Given the description of an element on the screen output the (x, y) to click on. 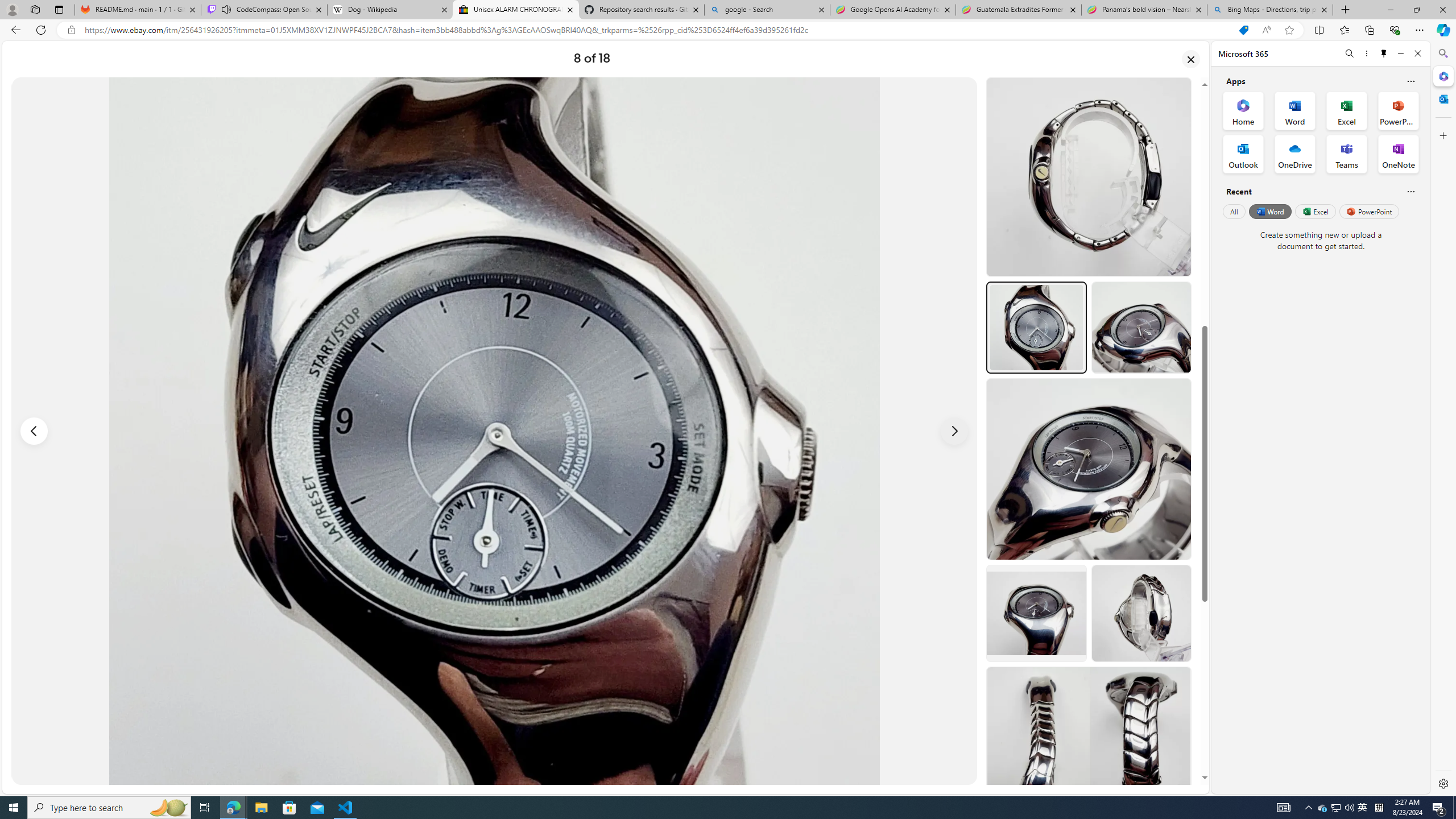
OneDrive Office App (1295, 154)
